Given the description of an element on the screen output the (x, y) to click on. 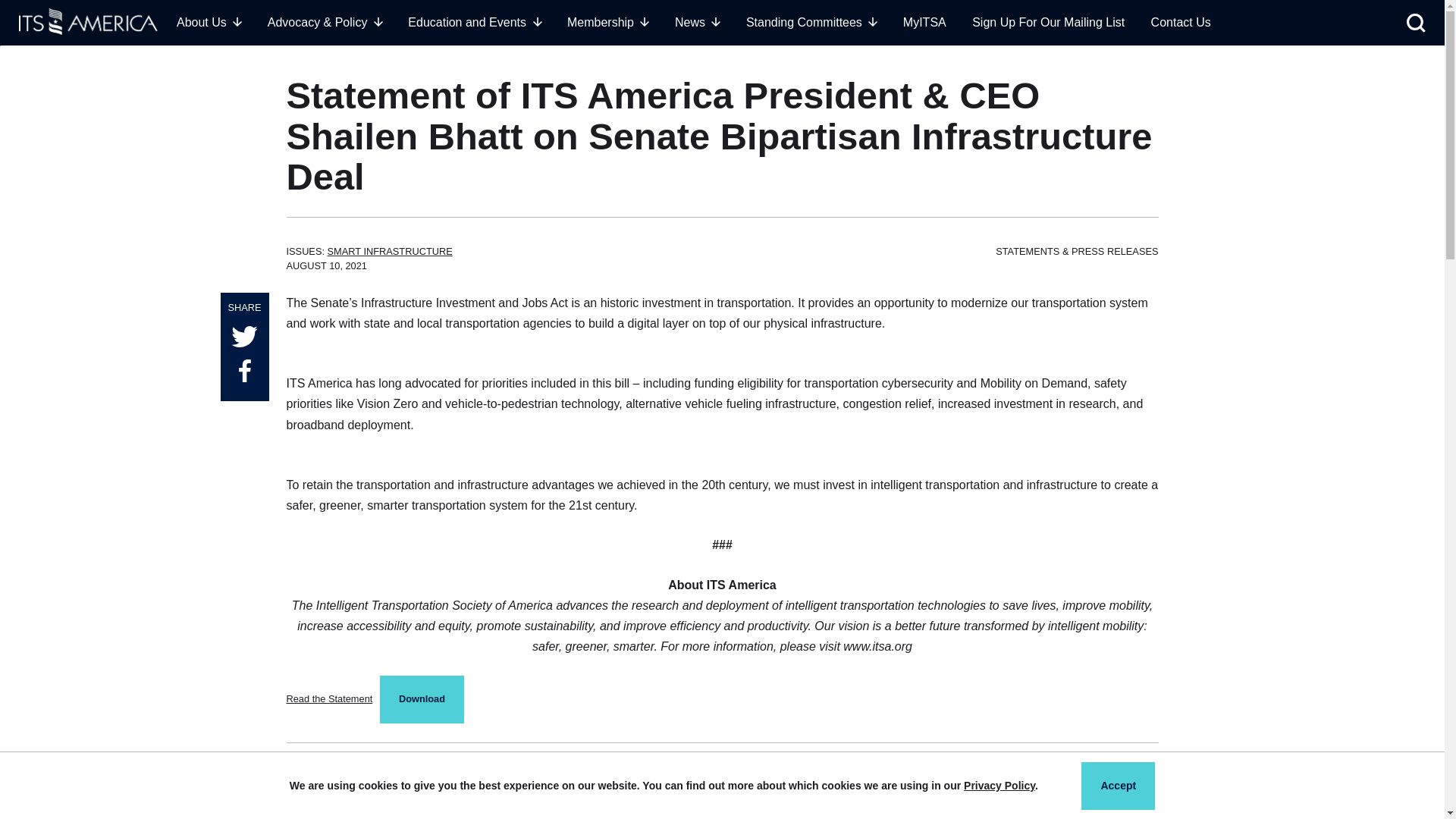
About Us (208, 22)
Contact Us (1181, 22)
Education and Events (473, 22)
News (697, 22)
Sign Up For Our Mailing List (1047, 22)
MyITSA (924, 22)
SMART INFRASTRUCTURE (389, 251)
Standing Committees (811, 22)
Membership (608, 22)
